Given the description of an element on the screen output the (x, y) to click on. 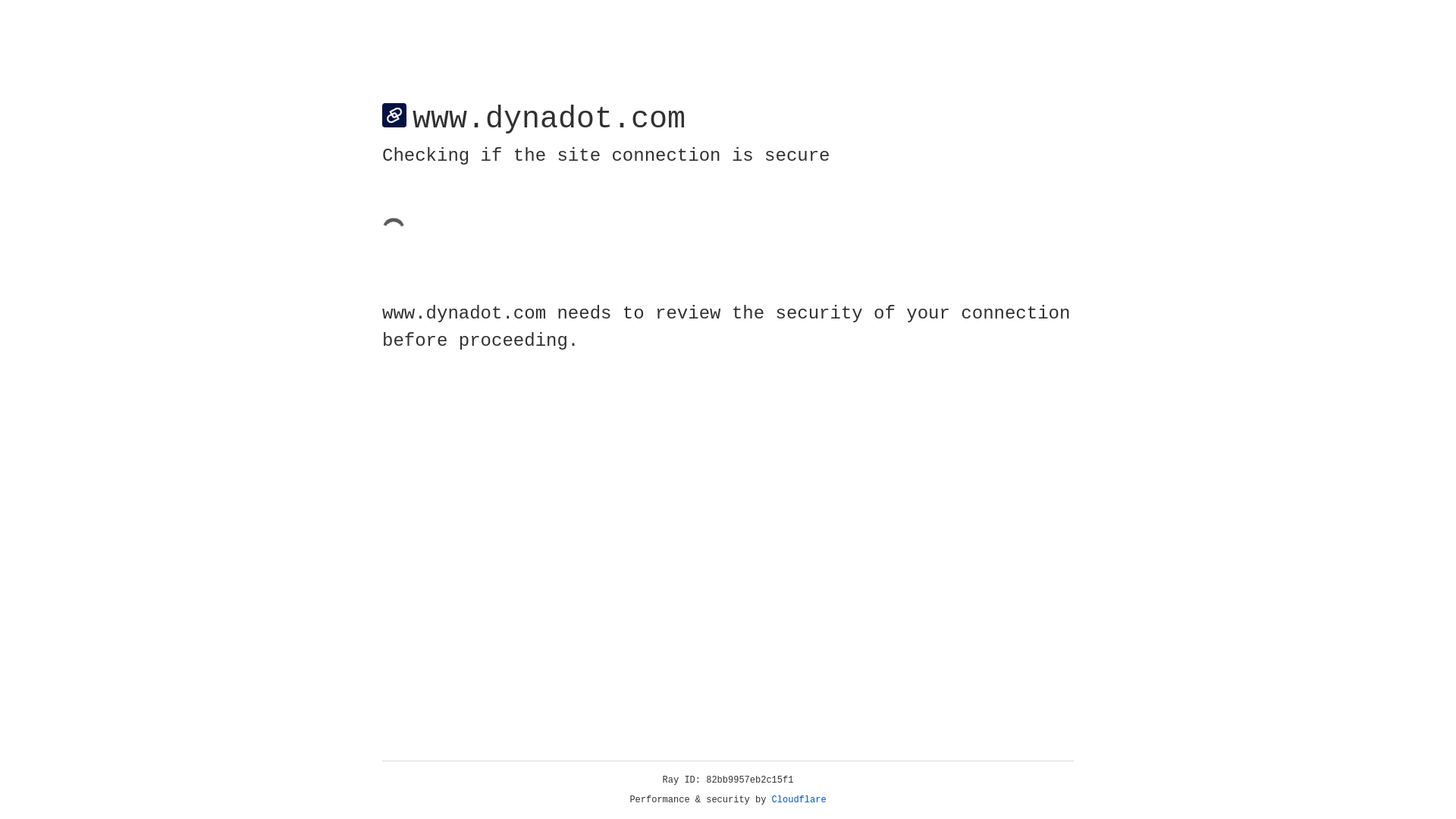
Cloudflare Element type: text (798, 799)
